Given the description of an element on the screen output the (x, y) to click on. 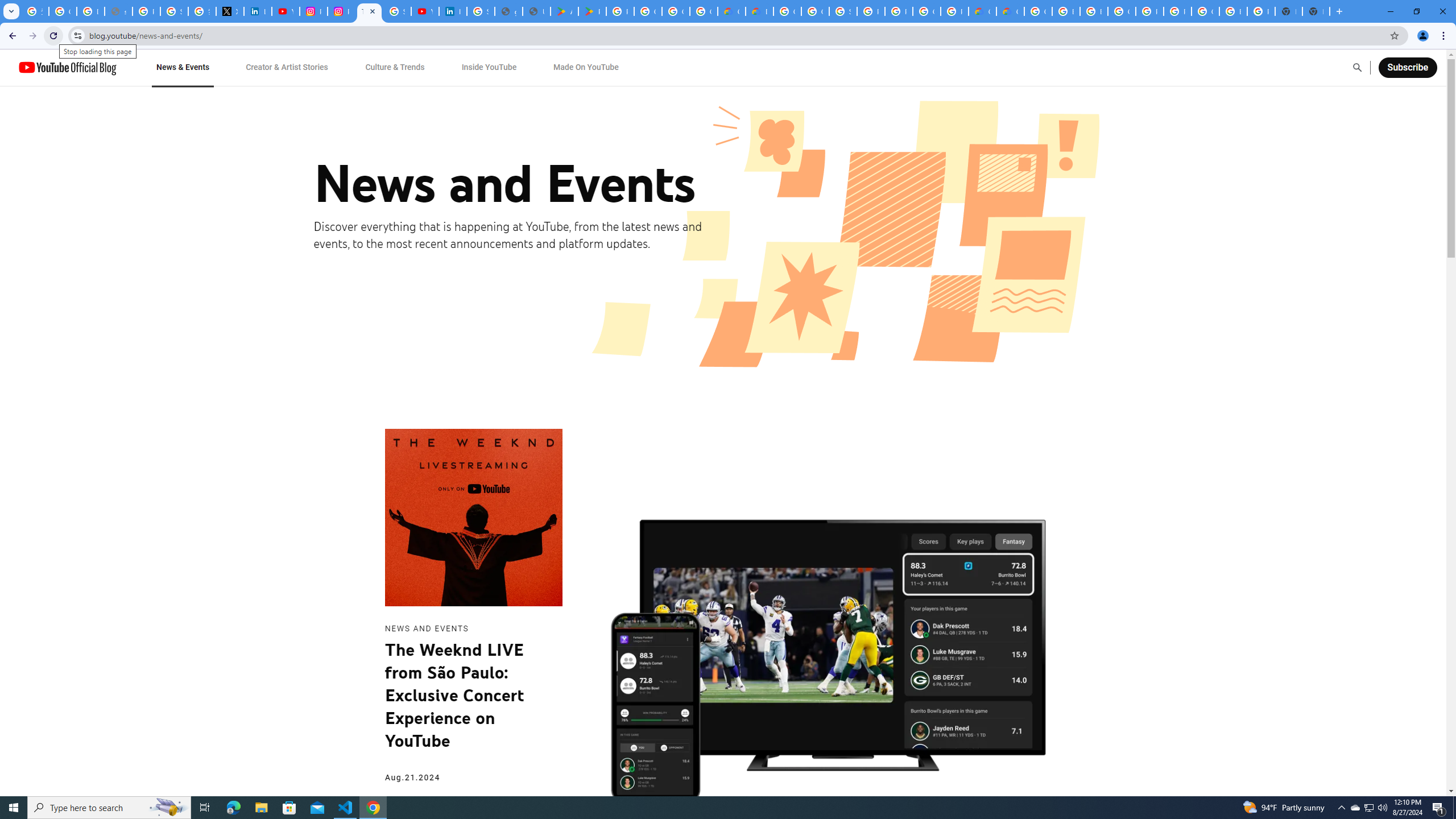
Google Cloud Platform (787, 11)
X (229, 11)
Creator & Artist Stories (287, 67)
Browse Chrome as a guest - Computer - Google Chrome Help (1093, 11)
Customer Care | Google Cloud (731, 11)
PAW Patrol Rescue World - Apps on Google Play (592, 11)
Subscribe (1407, 67)
Browse Chrome as a guest - Computer - Google Chrome Help (1065, 11)
